Given the description of an element on the screen output the (x, y) to click on. 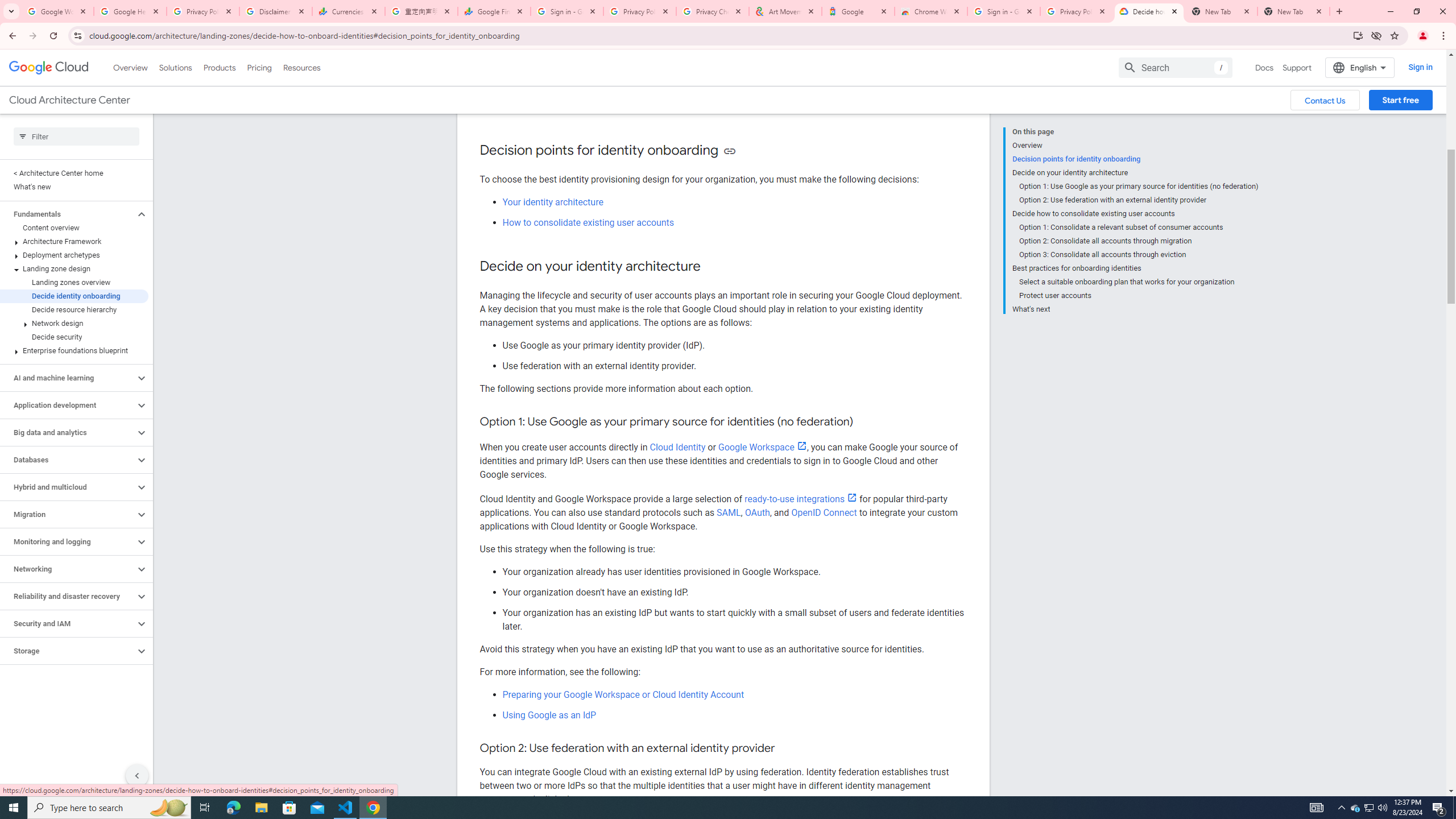
What's new (74, 187)
Sign in - Google Accounts (566, 11)
Application development (67, 404)
Privacy Checkup (712, 11)
Your identity architecture (552, 201)
New Tab (1293, 11)
Type to filter (76, 136)
Enterprise foundations blueprint (74, 350)
Decide resource hierarchy (74, 309)
